Given the description of an element on the screen output the (x, y) to click on. 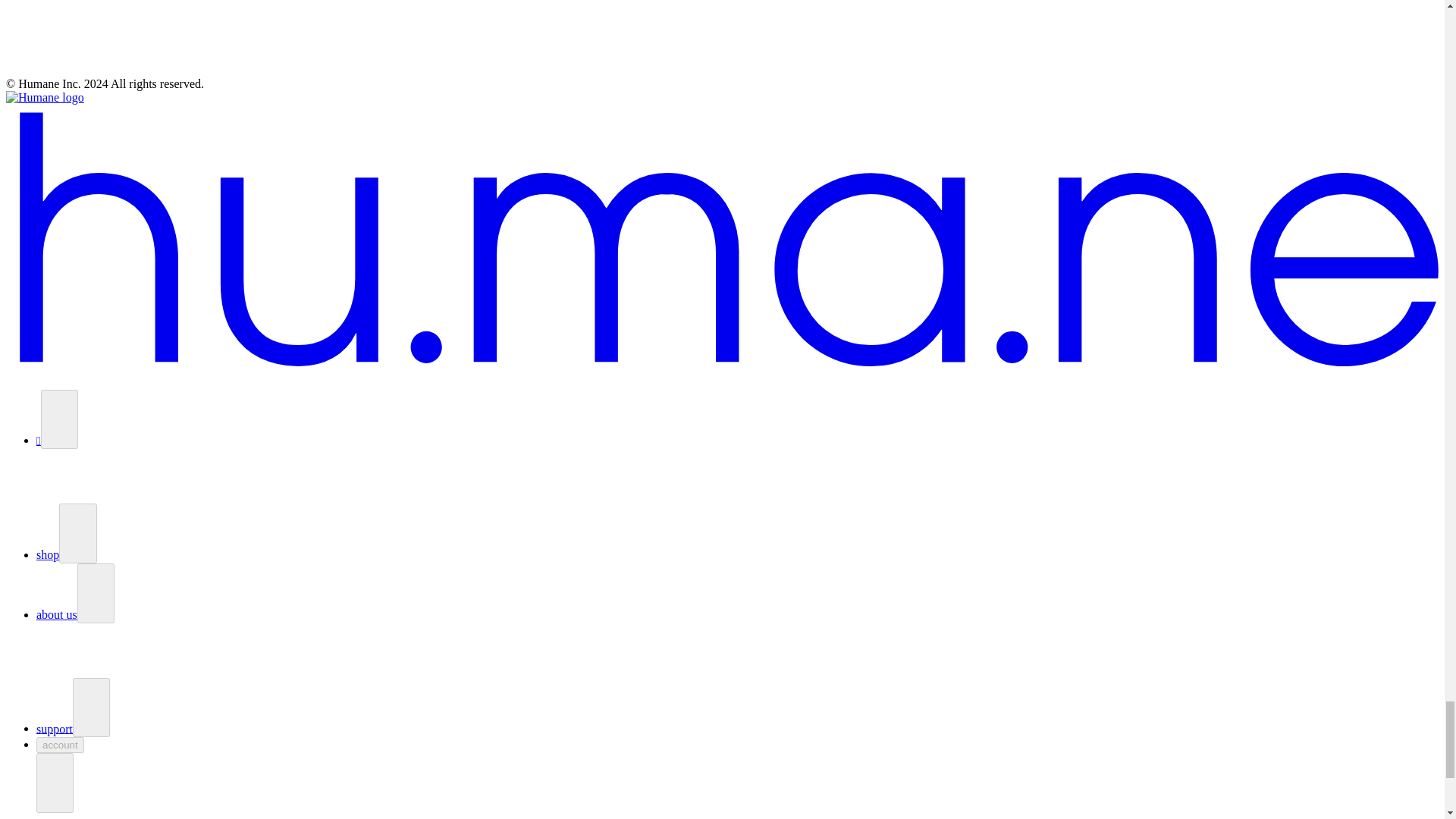
shop (47, 554)
Humane (44, 97)
support (54, 727)
account (60, 744)
about us (56, 614)
